Given the description of an element on the screen output the (x, y) to click on. 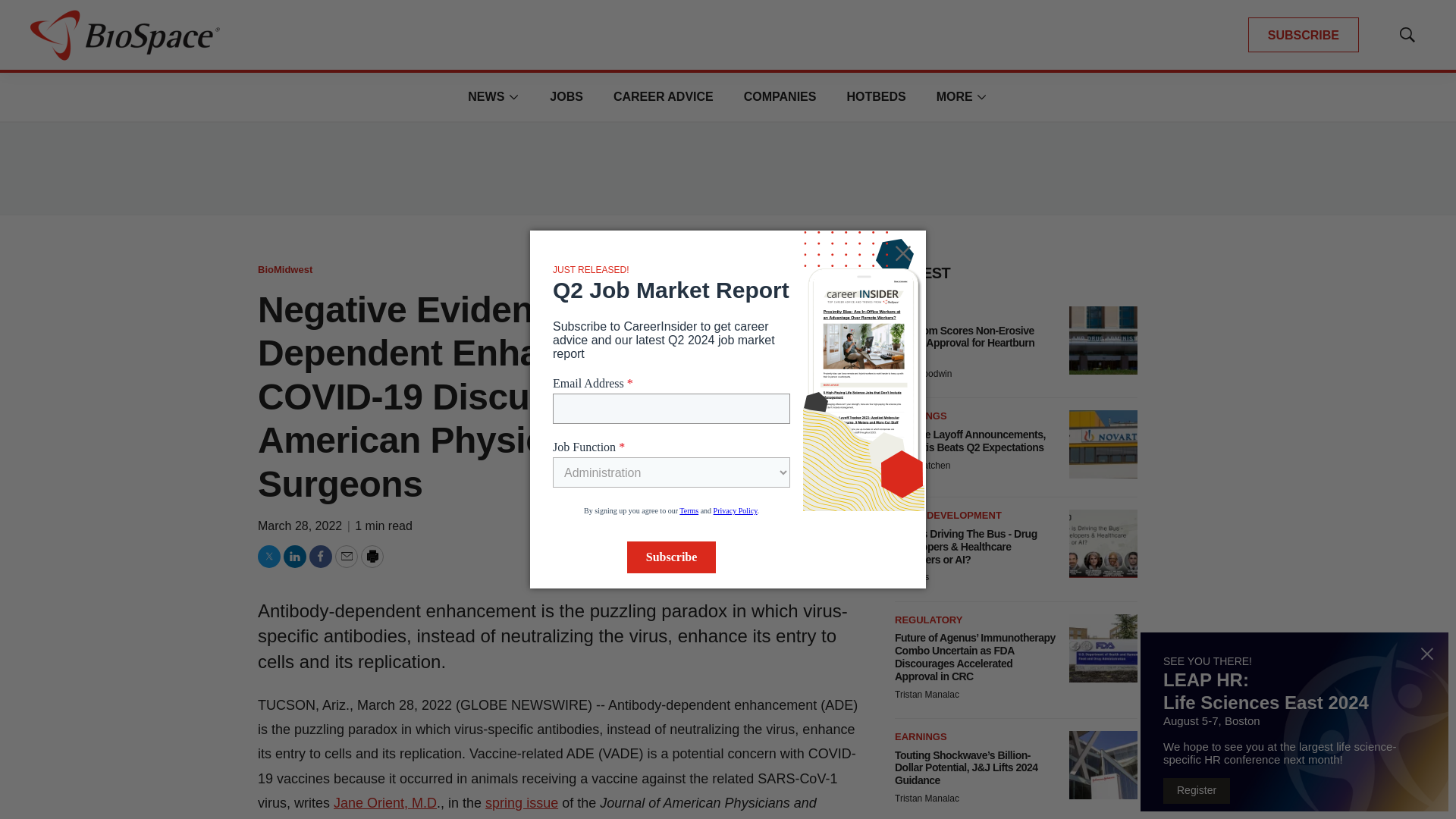
SUBSCRIBE (1302, 34)
Show Search (1407, 34)
Popup CTA (1294, 721)
NEWS (485, 96)
3rd party ad content (727, 168)
